Given the description of an element on the screen output the (x, y) to click on. 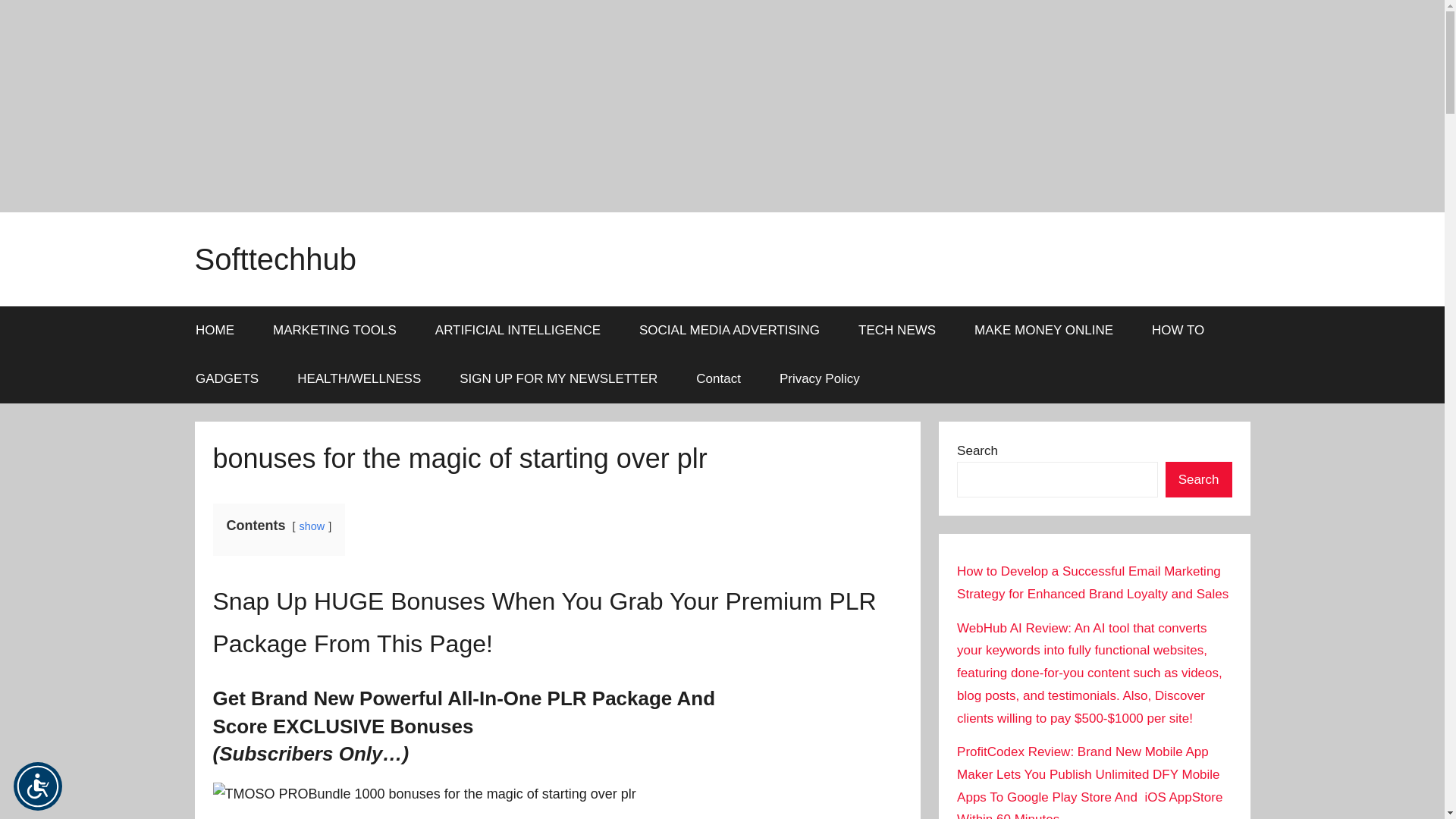
SIGN UP FOR MY NEWSLETTER (559, 378)
GADGETS (227, 378)
ARTIFICIAL INTELLIGENCE (517, 330)
HOME (214, 330)
Contact (718, 378)
SOCIAL MEDIA ADVERTISING (730, 330)
TECH NEWS (897, 330)
Accessibility Menu (37, 786)
MAKE MONEY ONLINE (1043, 330)
MARKETING TOOLS (333, 330)
